Given the description of an element on the screen output the (x, y) to click on. 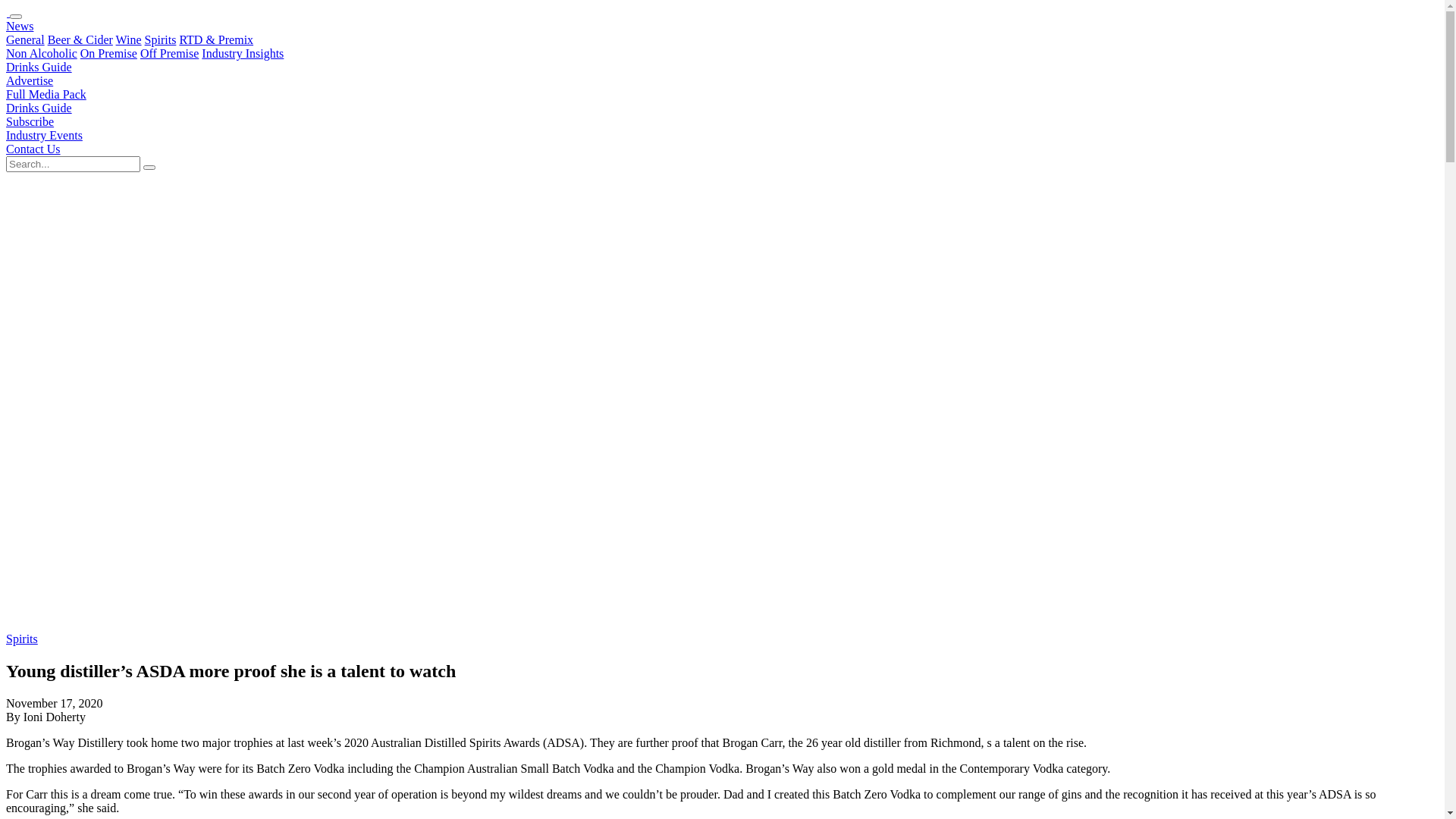
Beer & Cider Element type: text (79, 39)
Drinks Guide Element type: text (39, 107)
Spirits Element type: text (160, 39)
Off Premise Element type: text (169, 53)
News Element type: text (19, 25)
Spirits Element type: text (21, 638)
On Premise Element type: text (108, 53)
Full Media Pack Element type: text (46, 93)
Drinks Guide Element type: text (39, 66)
RTD & Premix Element type: text (215, 39)
Advertise Element type: text (29, 80)
General Element type: text (25, 39)
Industry Events Element type: text (44, 134)
Subscribe Element type: text (29, 121)
Wine Element type: text (128, 39)
Contact Us Element type: text (33, 148)
Industry Insights Element type: text (242, 53)
Non Alcoholic Element type: text (41, 53)
